Given the description of an element on the screen output the (x, y) to click on. 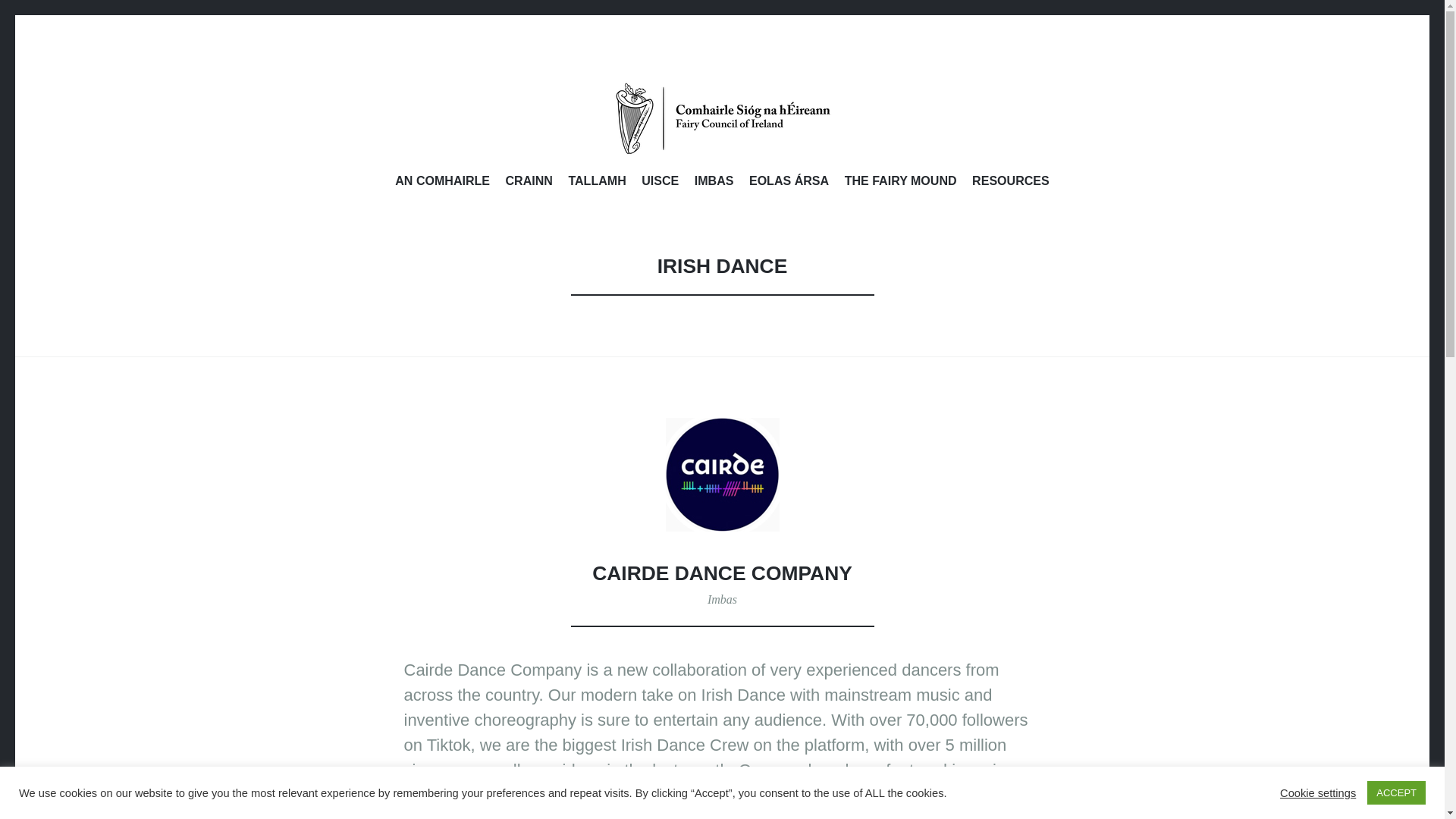
IMBAS (713, 183)
Cookie settings (1317, 792)
UISCE (660, 183)
RESOURCES (1010, 183)
CAIRDE DANCE COMPANY (721, 572)
TALLAMH (596, 183)
Fairy Council of Ireland (721, 118)
ACCEPT (1396, 792)
THE FAIRY MOUND (900, 183)
